Given the description of an element on the screen output the (x, y) to click on. 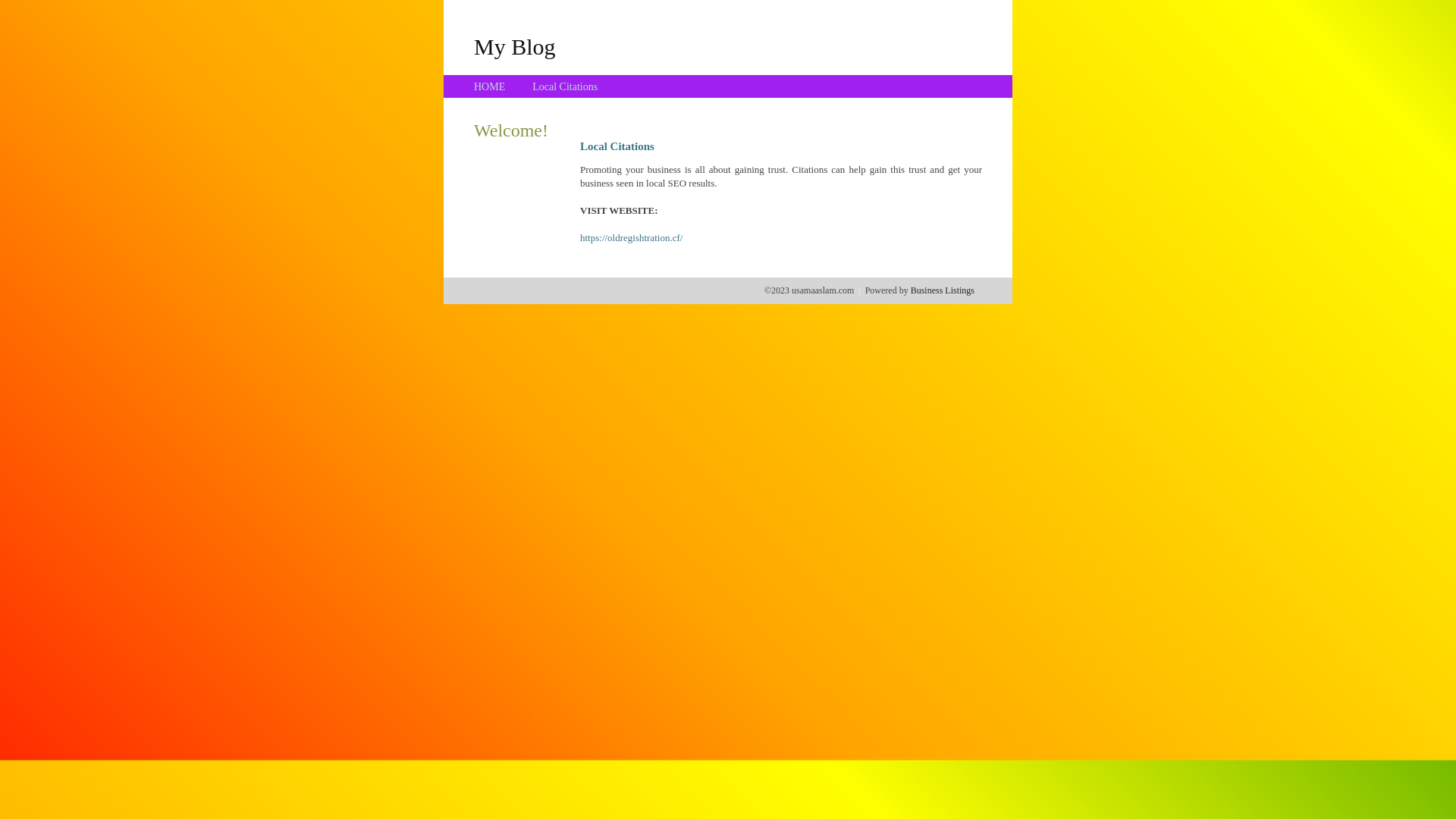
Business Listings Element type: text (942, 290)
Local Citations Element type: text (564, 86)
HOME Element type: text (489, 86)
My Blog Element type: text (514, 46)
https://oldregishtration.cf/ Element type: text (631, 237)
